Given the description of an element on the screen output the (x, y) to click on. 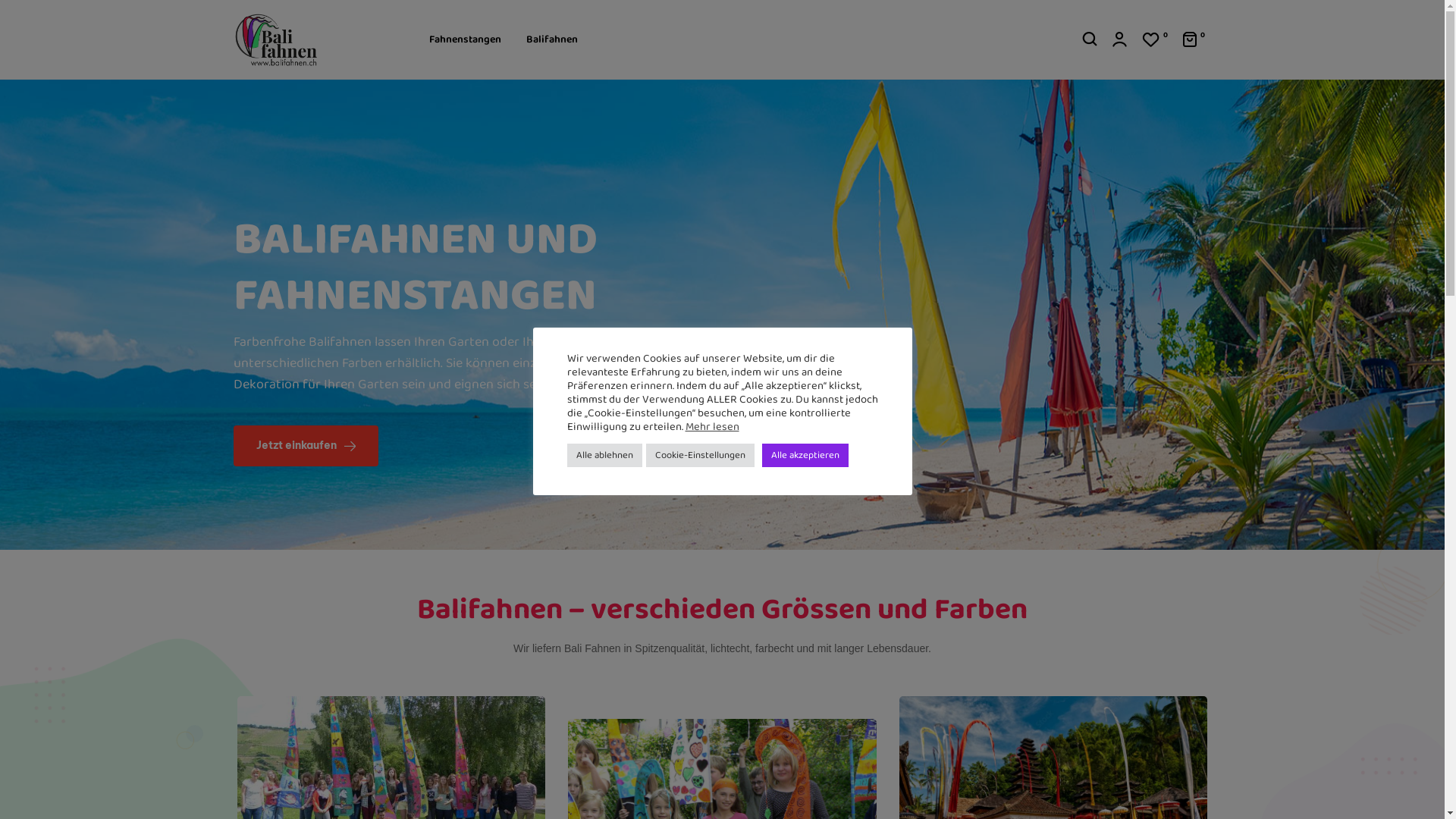
Alle akzeptieren Element type: text (804, 454)
0 Element type: text (1154, 39)
Mehr lesen Element type: text (712, 426)
Balifahnen Element type: text (551, 39)
0 Element type: text (1193, 39)
Jetzt einkaufen Element type: text (305, 445)
Fahnenstangen Element type: text (464, 39)
Alle ablehnen Element type: text (604, 454)
Cookie-Einstellungen Element type: text (700, 454)
